Given the description of an element on the screen output the (x, y) to click on. 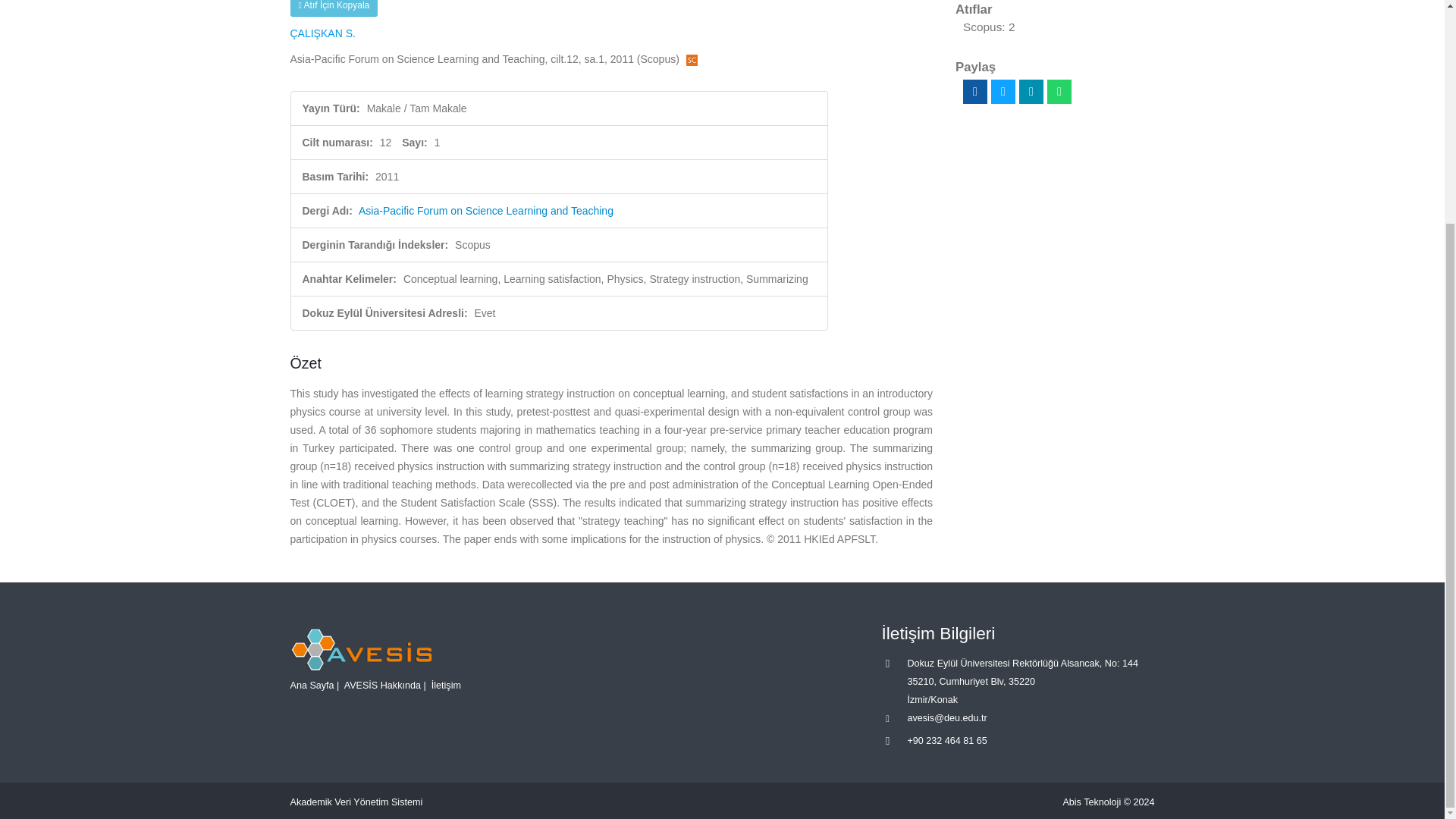
Asia-Pacific Forum on Science Learning and Teaching (485, 210)
Abis Teknoloji (1091, 801)
Ana Sayfa (311, 684)
